Given the description of an element on the screen output the (x, y) to click on. 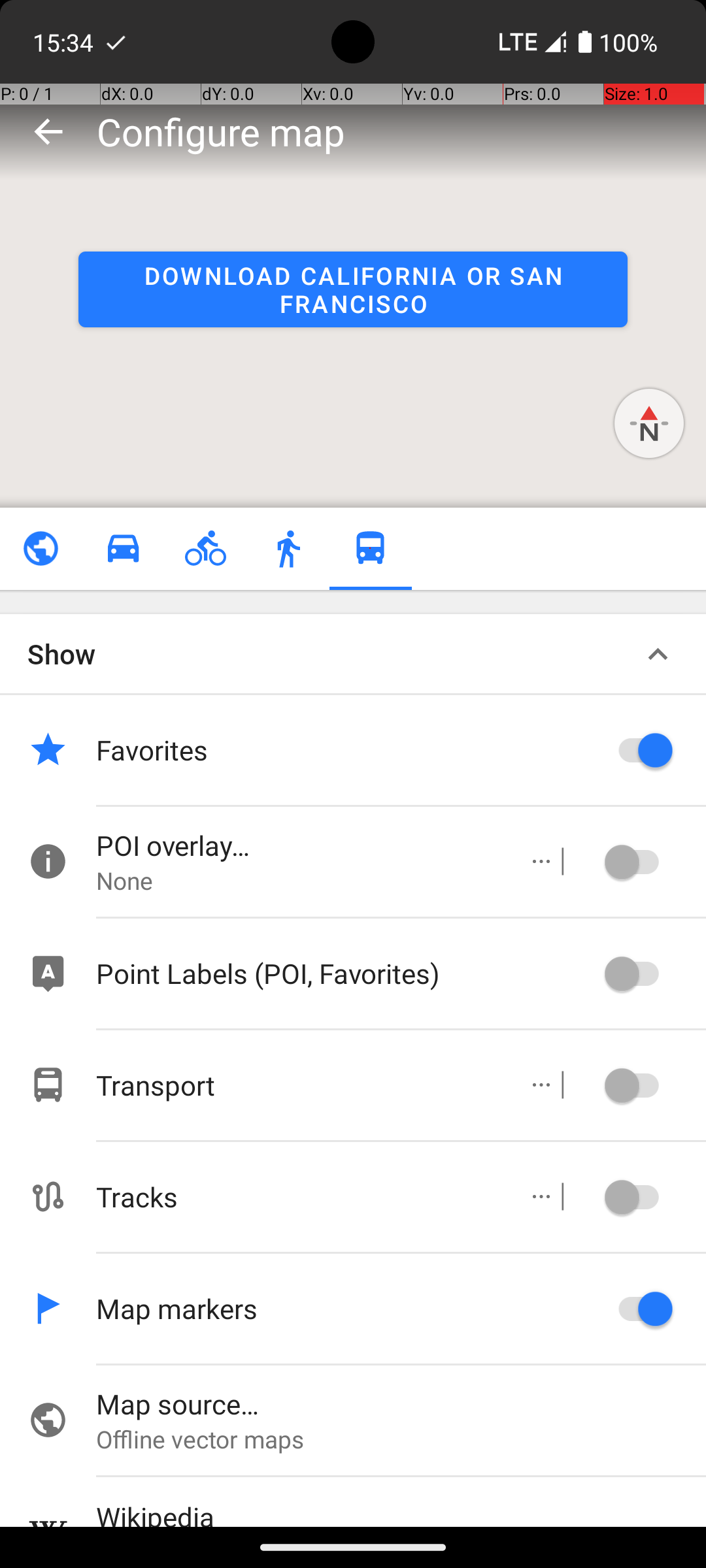
Back to map Element type: android.widget.ImageButton (48, 131)
DOWNLOAD CALIFORNIA OR SAN FRANCISCO Element type: android.widget.Button (352, 289)
Browse map unchecked Element type: android.widget.ImageView (40, 548)
Public transport checked Element type: android.widget.ImageView (369, 548)
Show Element type: android.widget.TextView (61, 653)
POI overlay… Element type: android.widget.TextView (298, 844)
Point Labels (POI, Favorites) Element type: android.widget.TextView (346, 972)
Transport Element type: android.widget.TextView (298, 1084)
Map source… Element type: android.widget.TextView (401, 1403)
Offline vector maps Element type: android.widget.TextView (401, 1438)
